Given the description of an element on the screen output the (x, y) to click on. 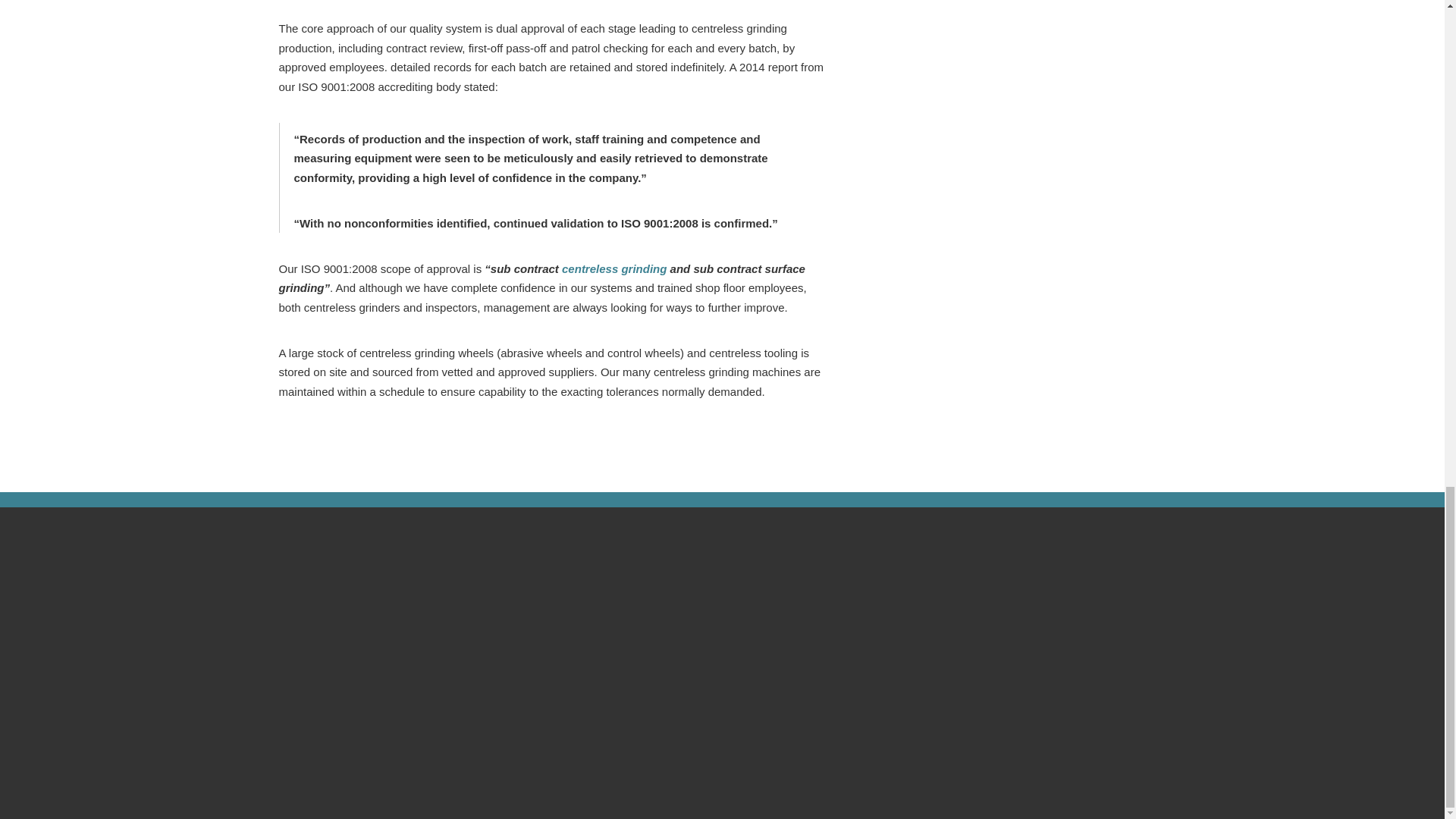
centreless grinding (614, 268)
Centreless Grinding (614, 268)
